Given the description of an element on the screen output the (x, y) to click on. 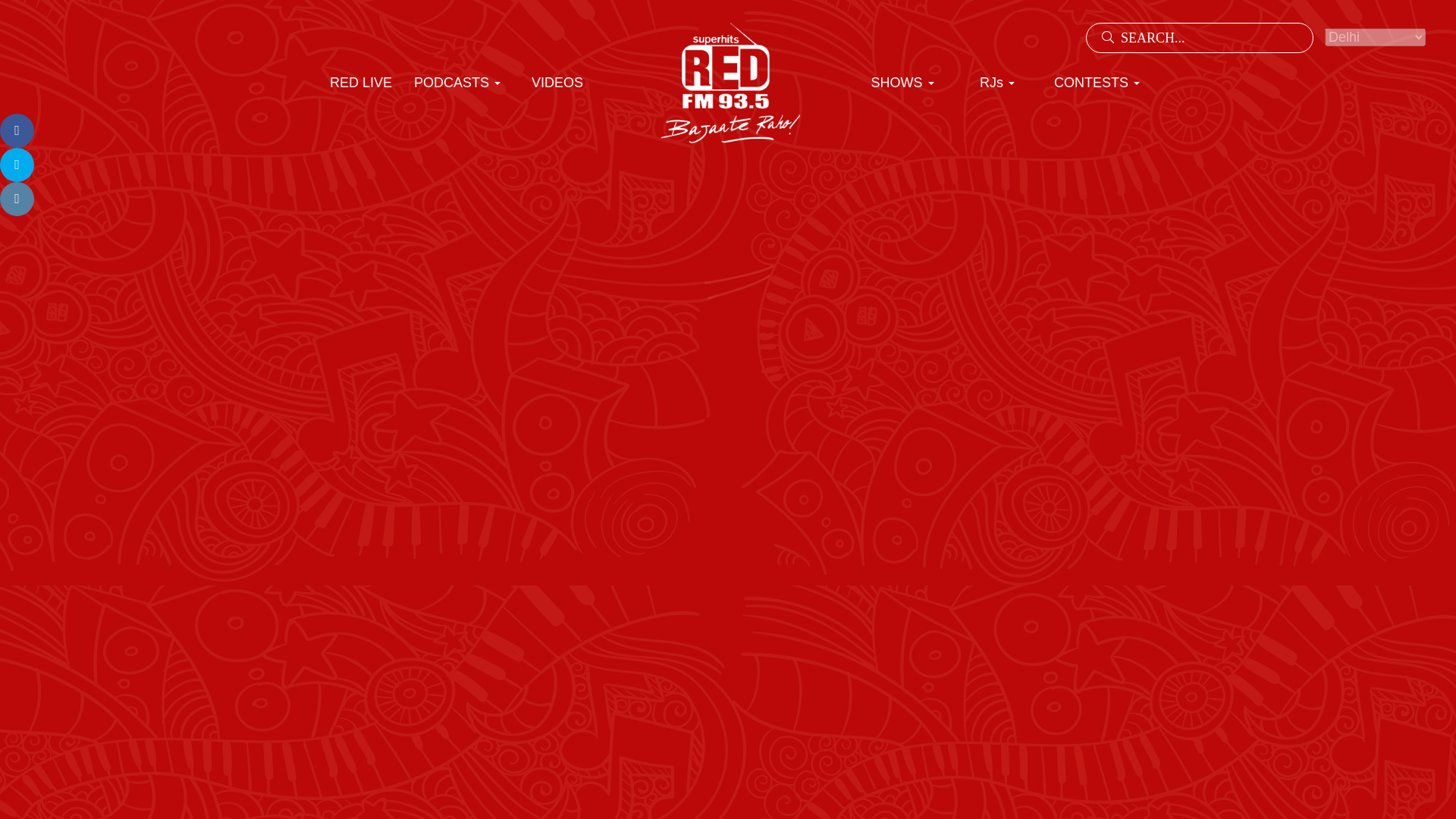
RJs (996, 83)
RED LIVE (360, 83)
SHOWS (901, 83)
CONTESTS (1097, 83)
PODCASTS (456, 83)
VIDEOS (557, 83)
